Given the description of an element on the screen output the (x, y) to click on. 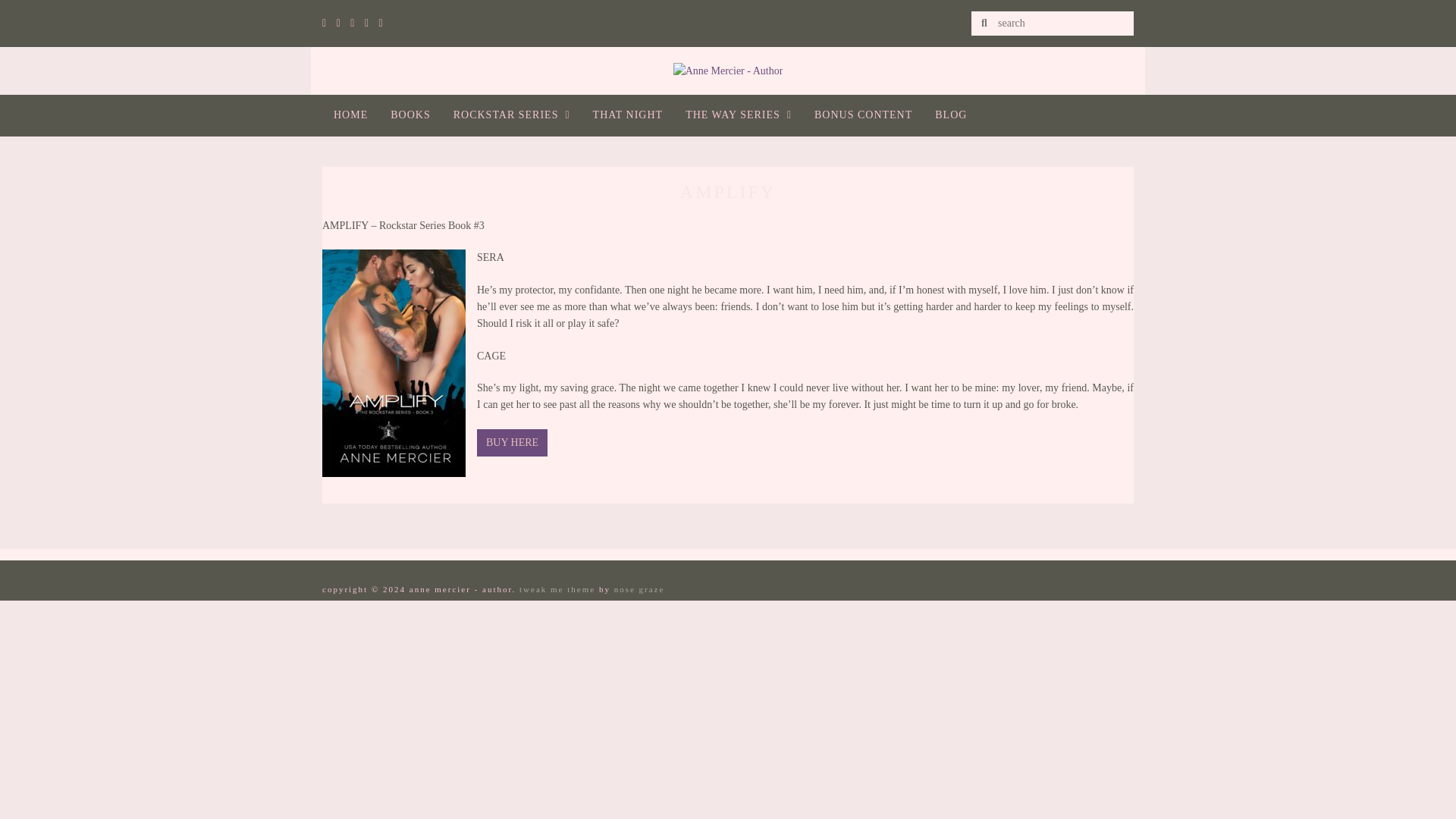
BLOG (950, 115)
tweak me theme (557, 588)
THE WAY SERIES   (738, 115)
HOME (349, 115)
THAT NIGHT (627, 115)
ROCKSTAR SERIES   (511, 115)
BOOKS (409, 115)
BONUS CONTENT (863, 115)
nose graze (639, 588)
BUY HERE (512, 442)
